Given the description of an element on the screen output the (x, y) to click on. 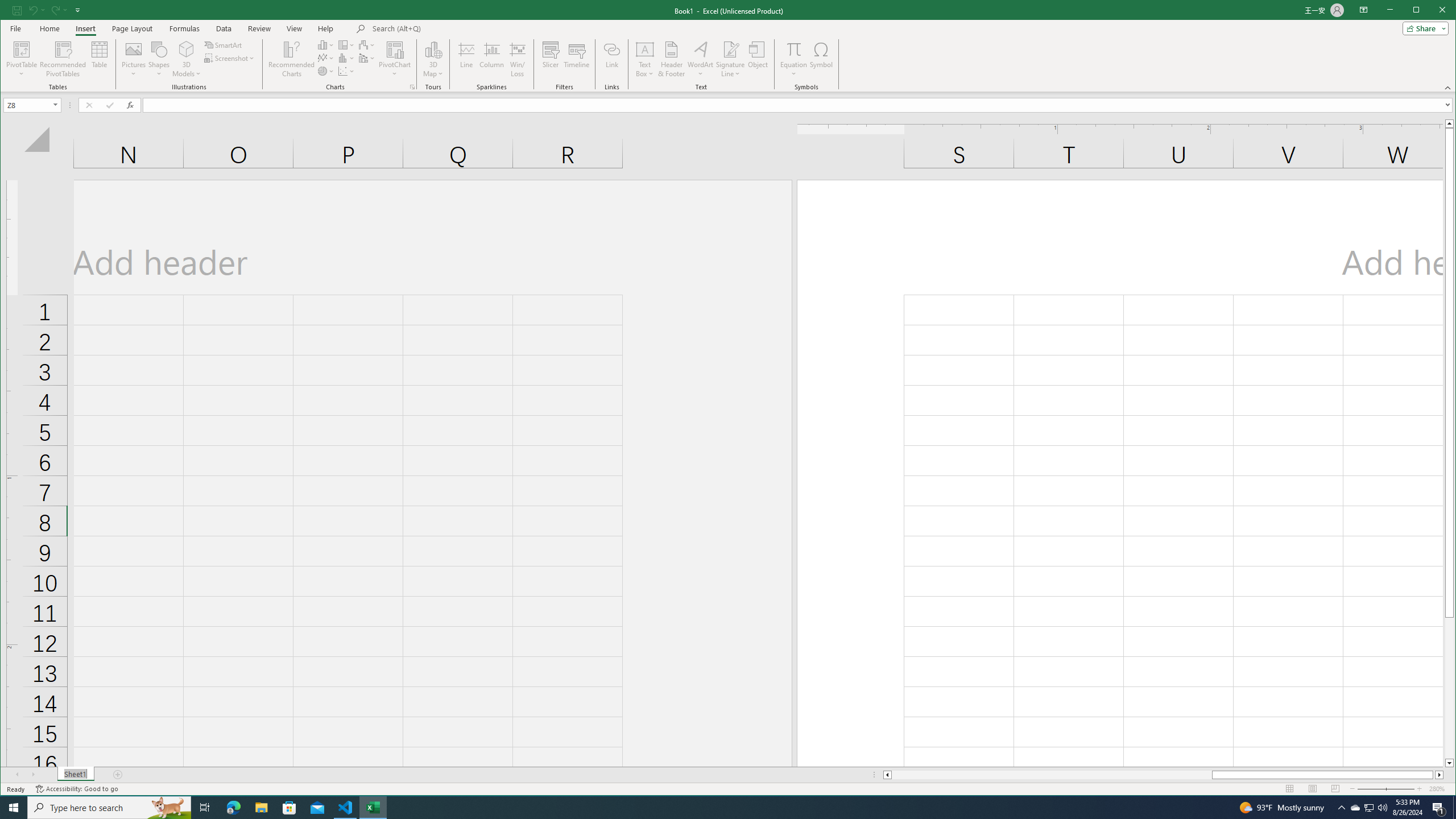
Recommended PivotTables (63, 59)
PivotTable (22, 59)
WordArt (699, 59)
SmartArt... (224, 44)
Equation (793, 48)
Timeline (576, 59)
Action Center, 1 new notification (1439, 807)
